Given the description of an element on the screen output the (x, y) to click on. 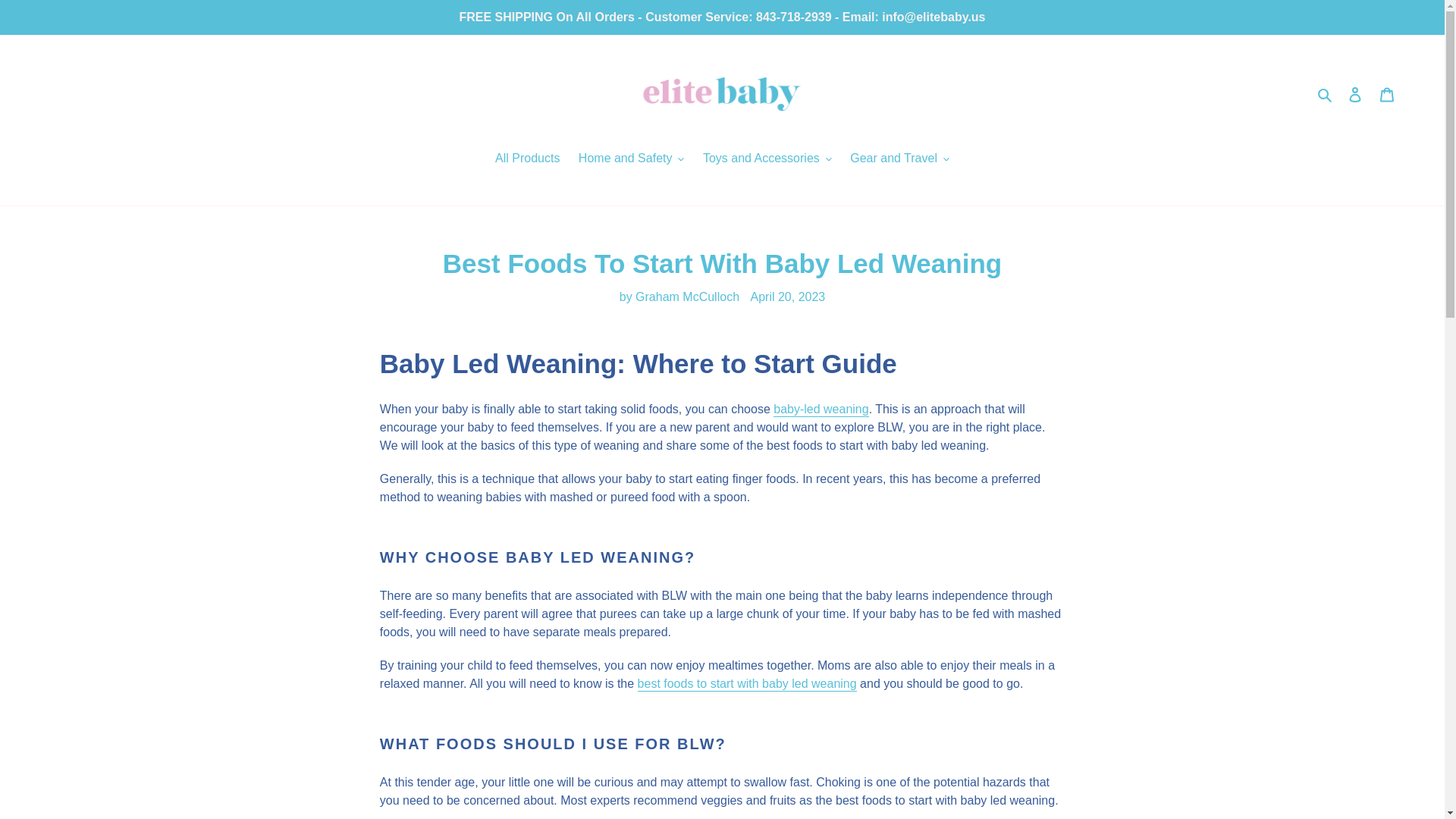
Log in (1355, 93)
Cart (1387, 93)
Search (1326, 94)
